Given the description of an element on the screen output the (x, y) to click on. 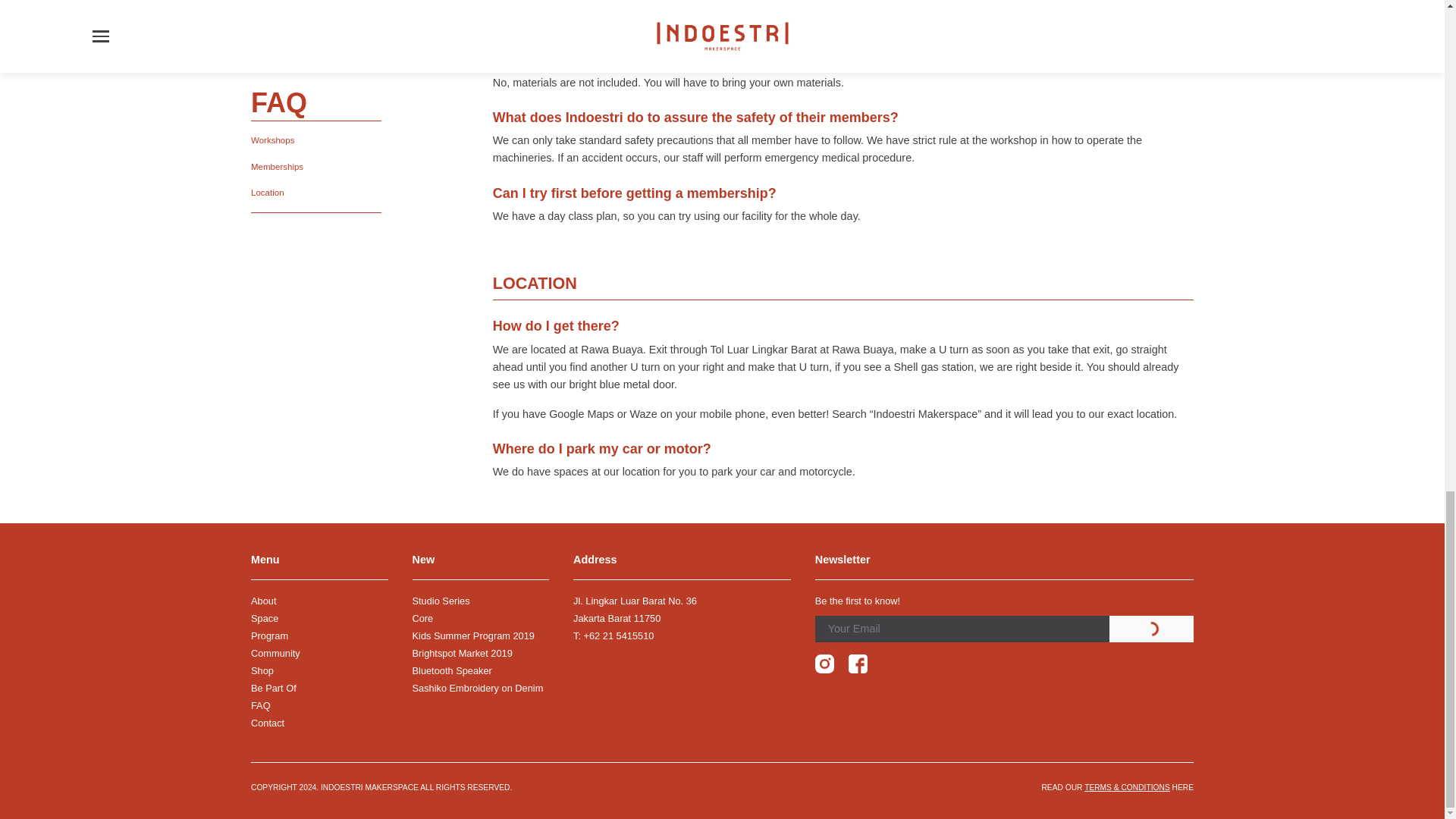
LOCATION (843, 242)
